Given the description of an element on the screen output the (x, y) to click on. 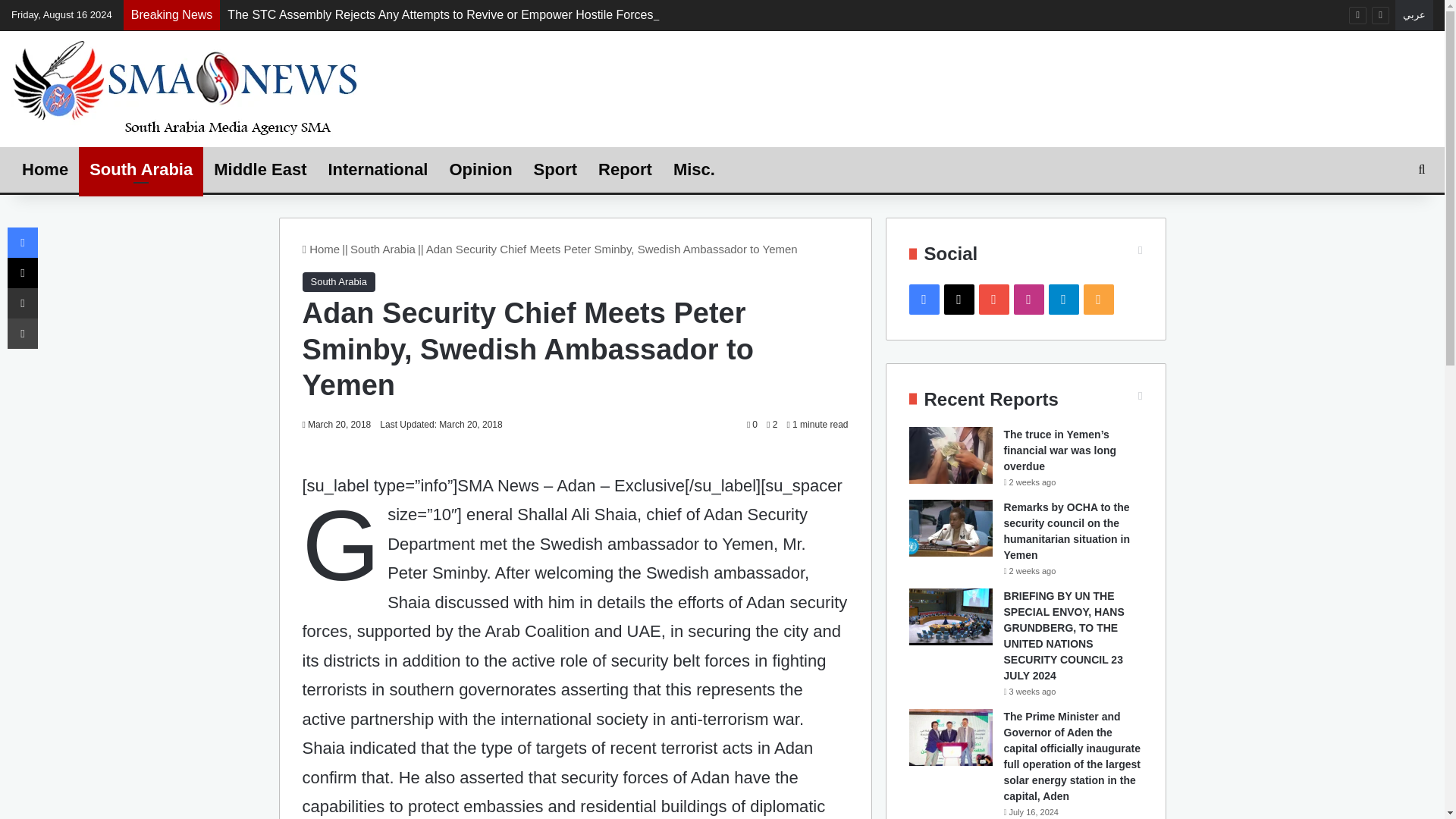
Sport (555, 169)
South Arabia (382, 248)
Report (625, 169)
Opinion (480, 169)
South Arabia (337, 281)
Home (320, 248)
International (377, 169)
Facebook (22, 242)
Share via Email (22, 303)
